Given the description of an element on the screen output the (x, y) to click on. 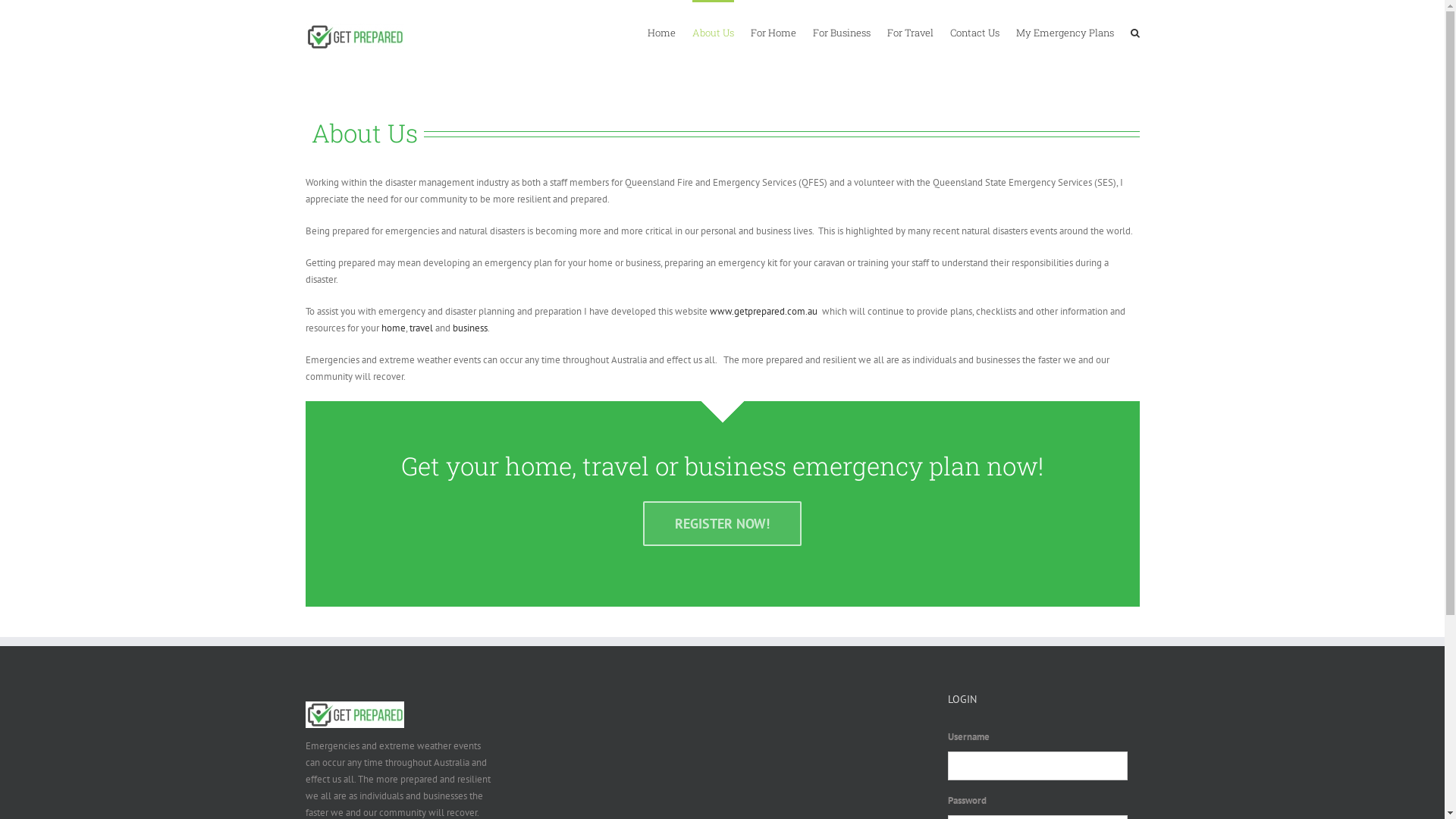
Search Element type: hover (1134, 31)
home Element type: text (392, 327)
Contact Us Element type: text (973, 31)
For Travel Element type: text (910, 31)
My Emergency Plans Element type: text (1064, 31)
Home Element type: text (661, 31)
travel Element type: text (421, 327)
About Us Element type: text (712, 31)
REGISTER NOW! Element type: text (722, 523)
www.getprepared.com.au Element type: text (763, 310)
For Business Element type: text (841, 31)
For Home Element type: text (773, 31)
business Element type: text (468, 327)
